Given the description of an element on the screen output the (x, y) to click on. 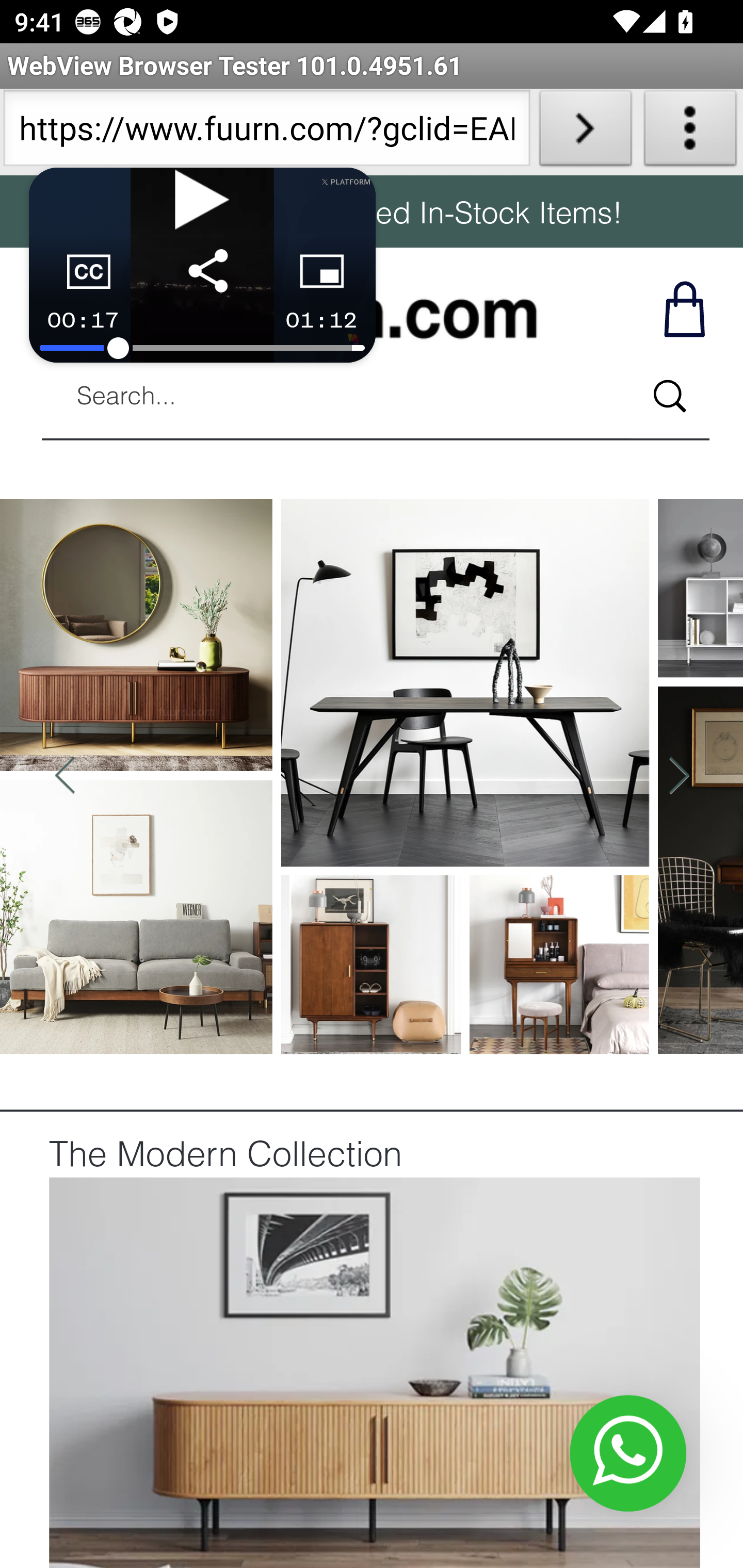
Load URL (585, 132)
About WebView (690, 132)
Shop (682, 308)
Search... (669, 395)
Previous Item (64, 776)
Next Item (678, 776)
The Modern Collection (225, 1156)
WEB Collection_7.jpg (373, 1371)
